Given the description of an element on the screen output the (x, y) to click on. 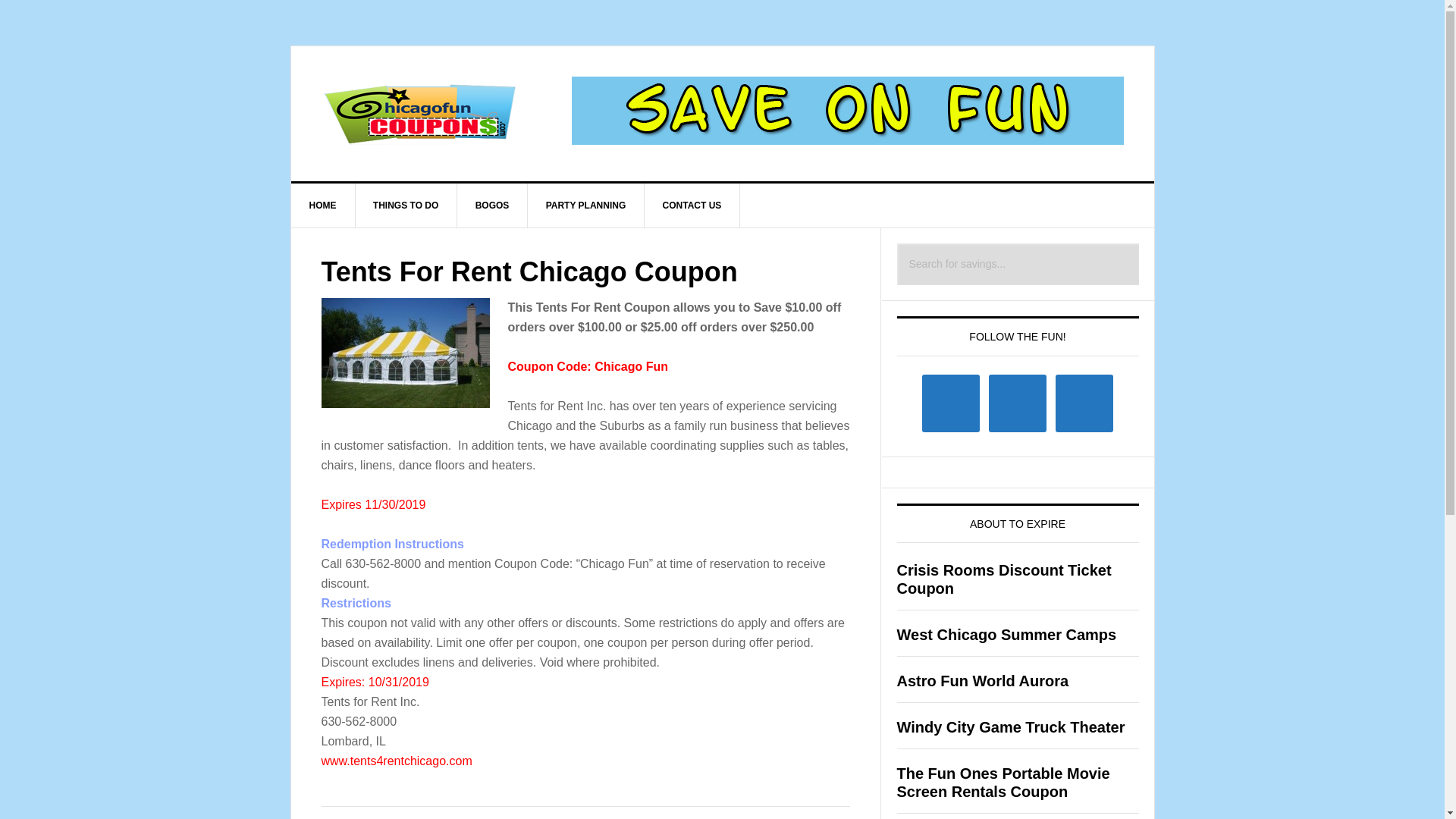
Crisis Rooms Discount Ticket Coupon (1003, 579)
CONTACT US (693, 205)
Astro Fun World Aurora (982, 680)
BOGOS (492, 205)
West Chicago Summer Camps (1006, 634)
www.tents4rentchicago.com (396, 760)
HOME (323, 205)
CHICAGO FUN DISCOUNT SAVINGS COUPONS (419, 110)
THINGS TO DO (406, 205)
